Given the description of an element on the screen output the (x, y) to click on. 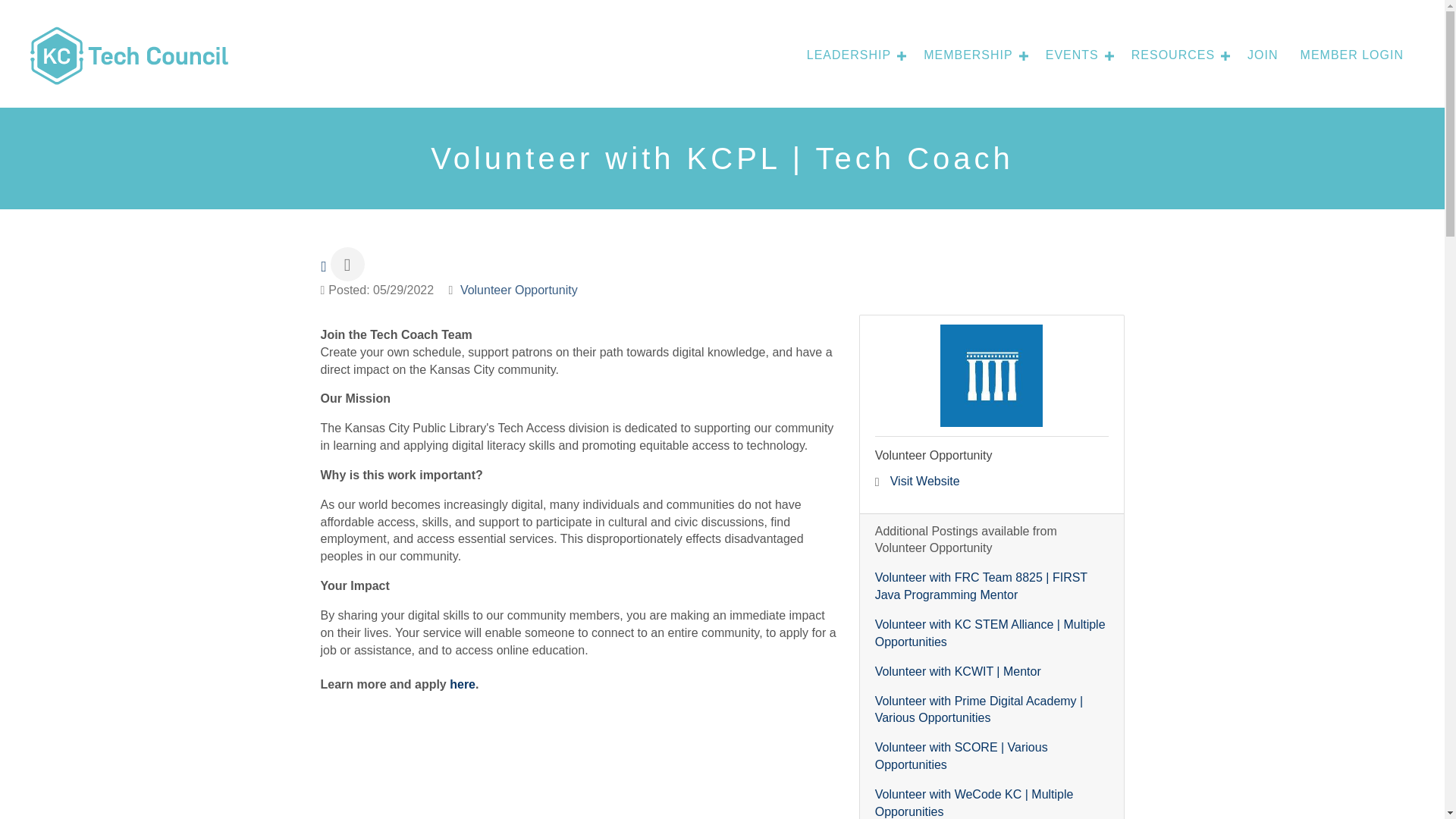
EVENTS (1077, 55)
MEMBER LOGIN (1351, 55)
MEMBERSHIP (972, 55)
RESOURCES (1178, 55)
JOIN (1262, 55)
LEADERSHIP (854, 55)
